Given the description of an element on the screen output the (x, y) to click on. 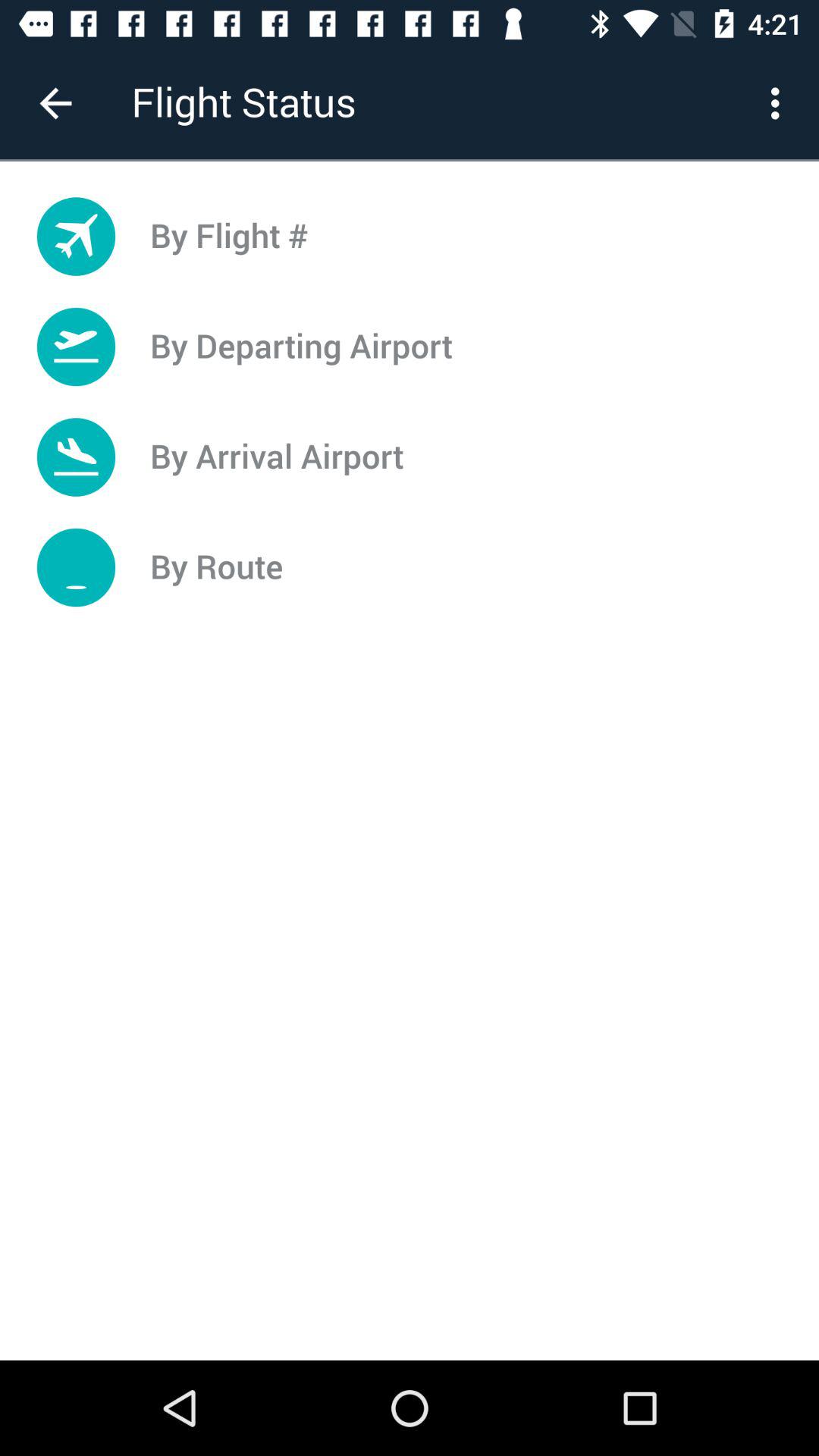
press icon to the left of the flight status (55, 103)
